Given the description of an element on the screen output the (x, y) to click on. 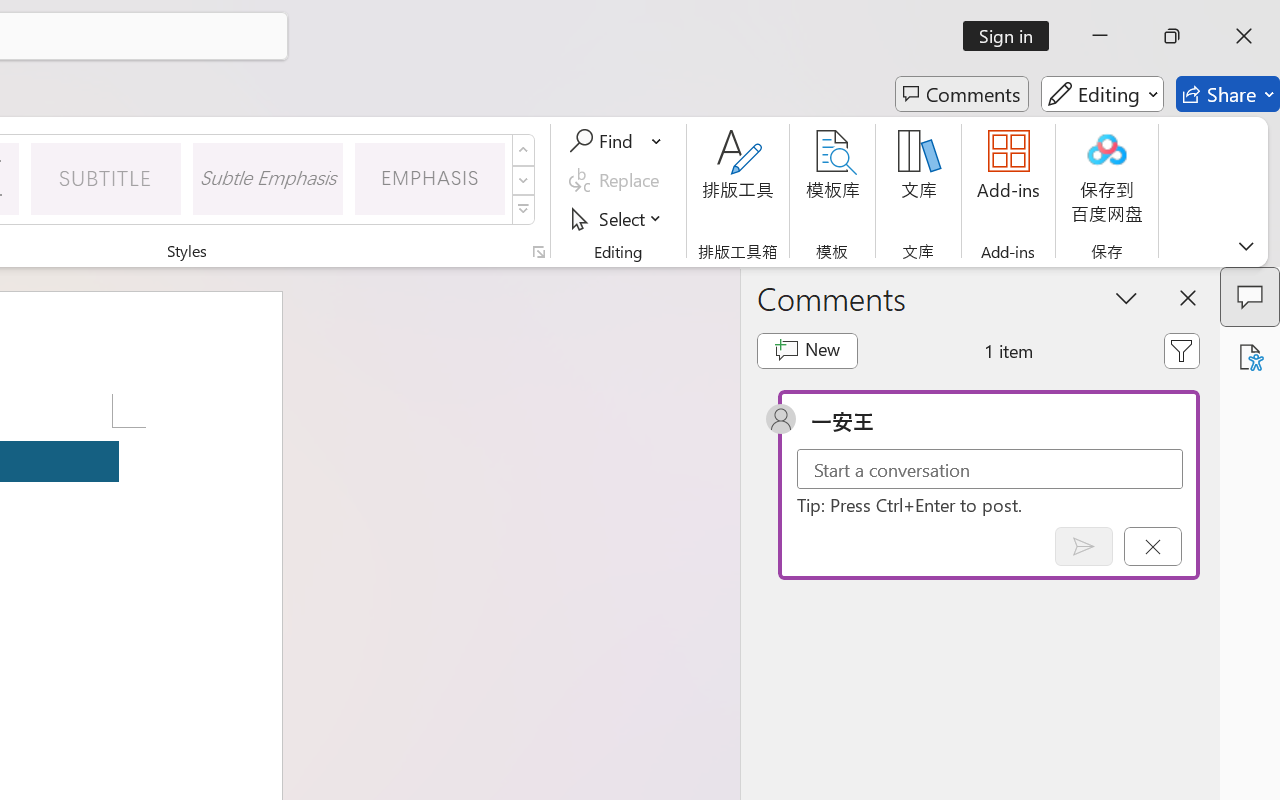
Cancel (1152, 546)
Post comment (Ctrl + Enter) (1083, 546)
Emphasis (429, 178)
New comment (806, 350)
Sign in (1012, 35)
